Given the description of an element on the screen output the (x, y) to click on. 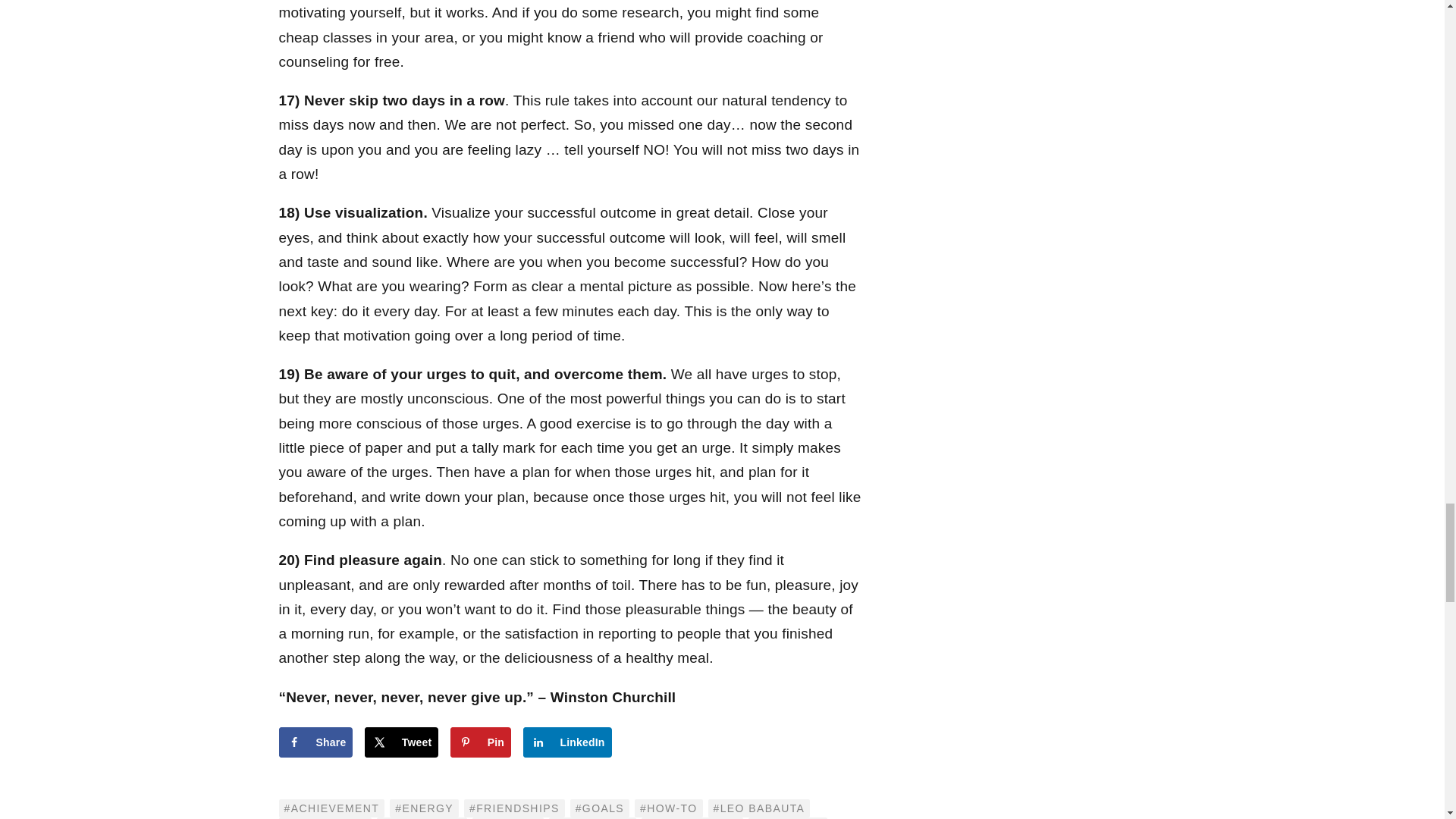
ENERGY (424, 808)
Save to Pinterest (480, 742)
Share on LinkedIn (566, 742)
ACHIEVEMENT (332, 808)
LinkedIn (566, 742)
Share on X (402, 742)
GOALS (599, 808)
FRIENDSHIPS (514, 808)
Share on Facebook (316, 742)
Pin (480, 742)
HOW-TO (667, 808)
LEO BABAUTA (758, 808)
Share (316, 742)
Tweet (402, 742)
